Given the description of an element on the screen output the (x, y) to click on. 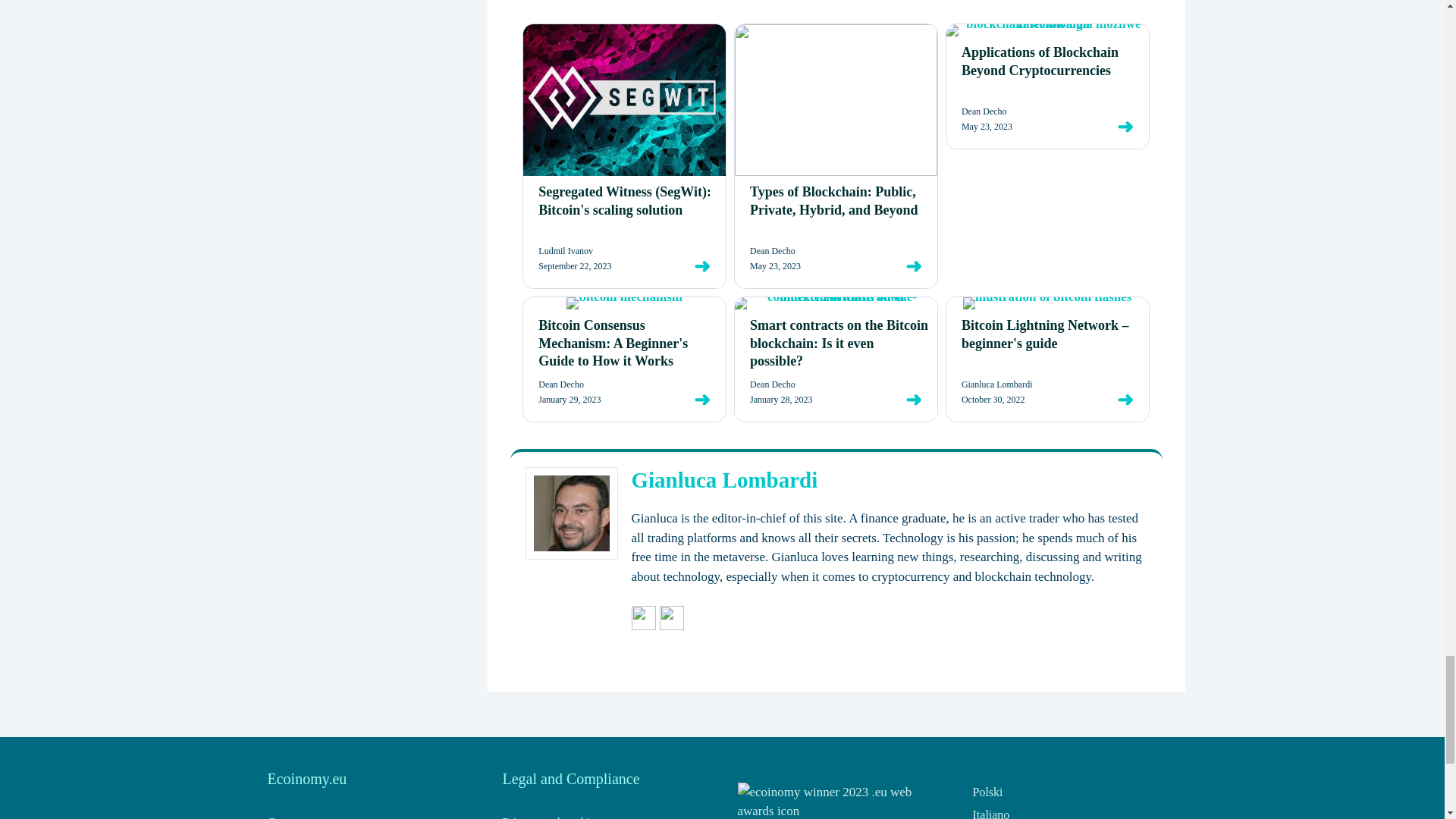
Send Gianluca Lombardi Mail (642, 295)
Gianluca Lombardi (723, 148)
Contatto (287, 490)
More Posts By Gianluca Lombardi (671, 295)
